Given the description of an element on the screen output the (x, y) to click on. 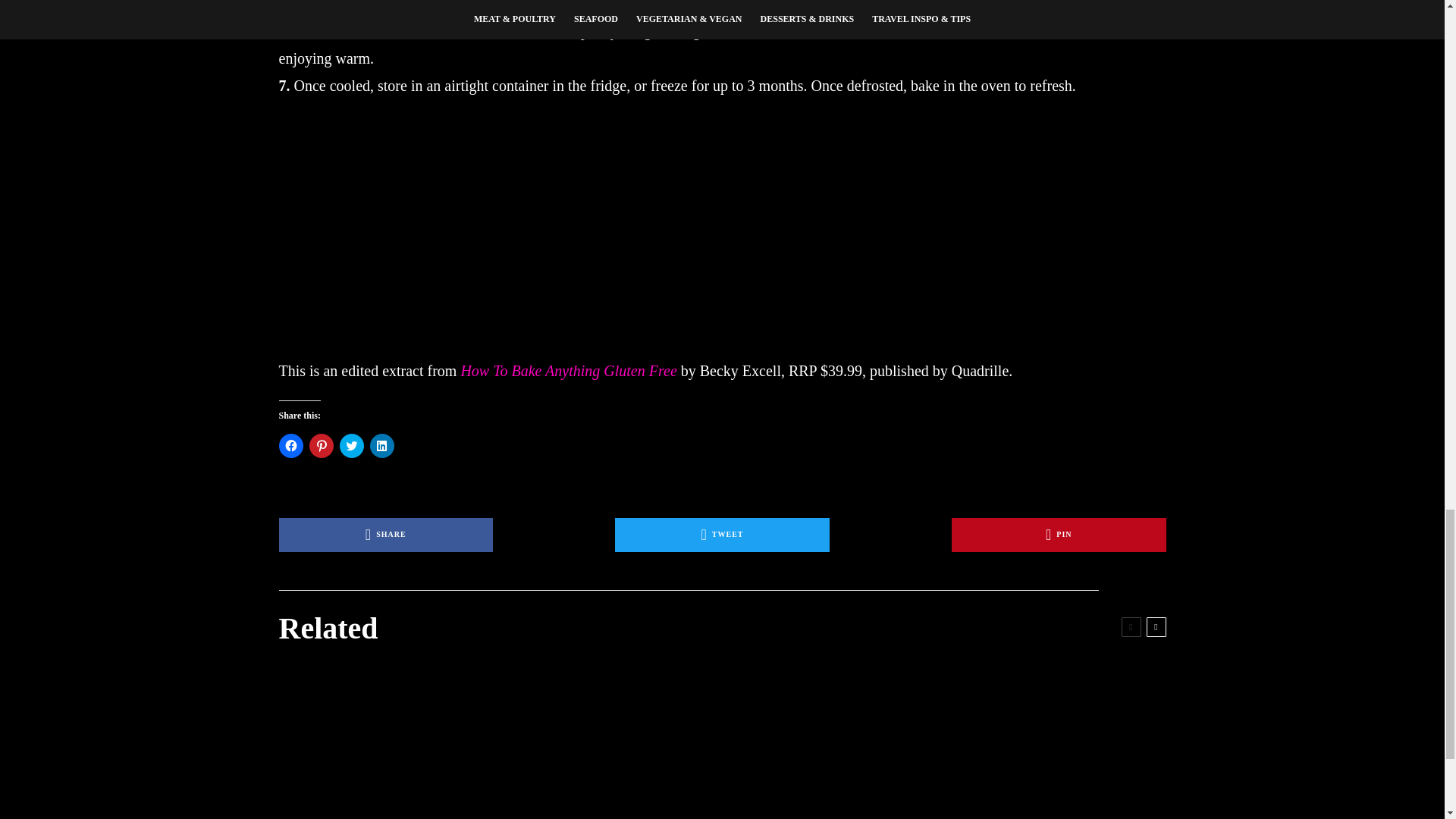
Click to share on Twitter (351, 445)
Click to share on Pinterest (320, 445)
How To Bake Anything Gluten Free (568, 370)
Click to share on Facebook (290, 445)
SHARE (386, 534)
Click to share on LinkedIn (381, 445)
TWEET (721, 534)
PIN (1059, 534)
